Given the description of an element on the screen output the (x, y) to click on. 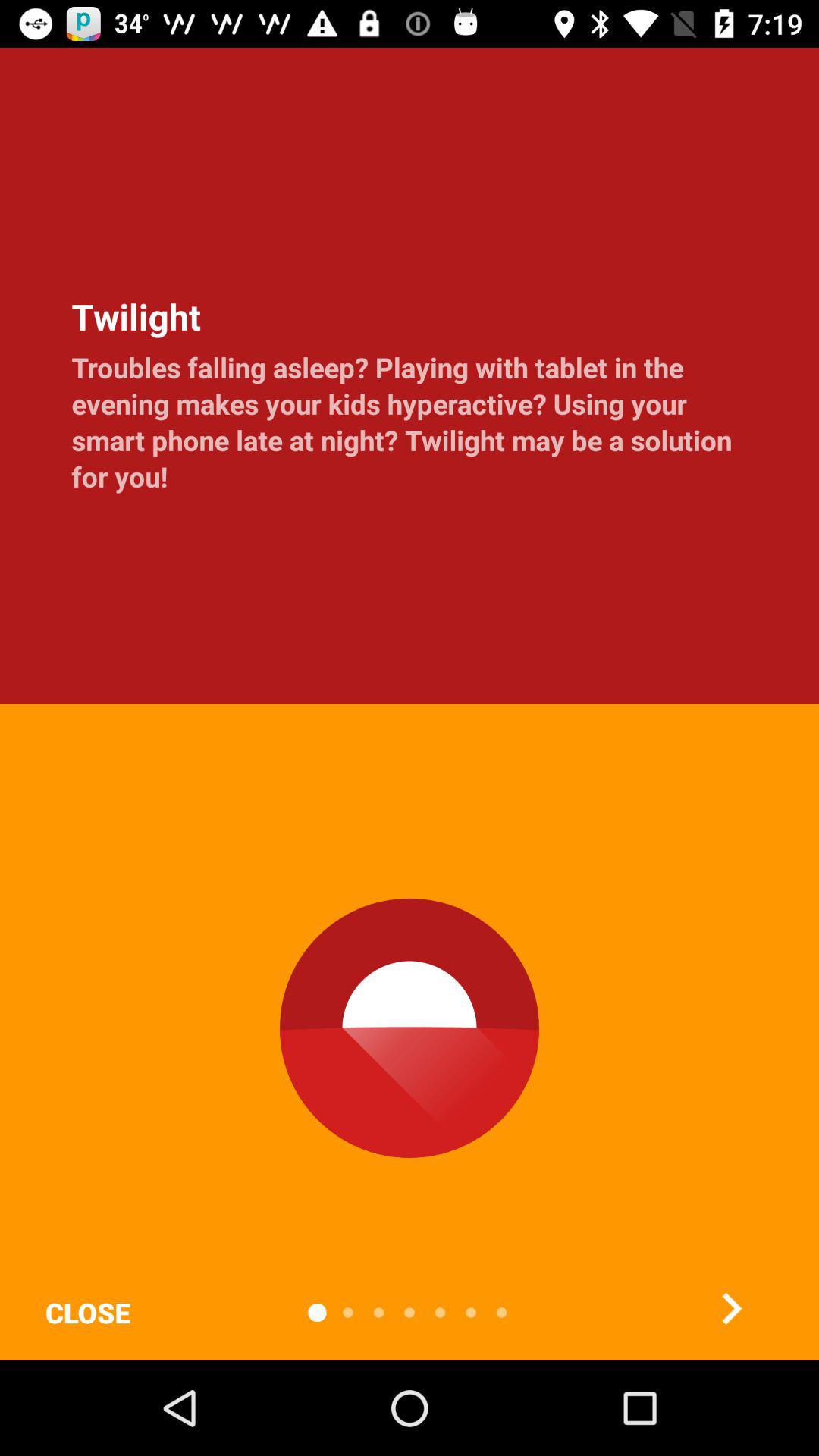
turn on the icon below troubles falling asleep (87, 1312)
